Given the description of an element on the screen output the (x, y) to click on. 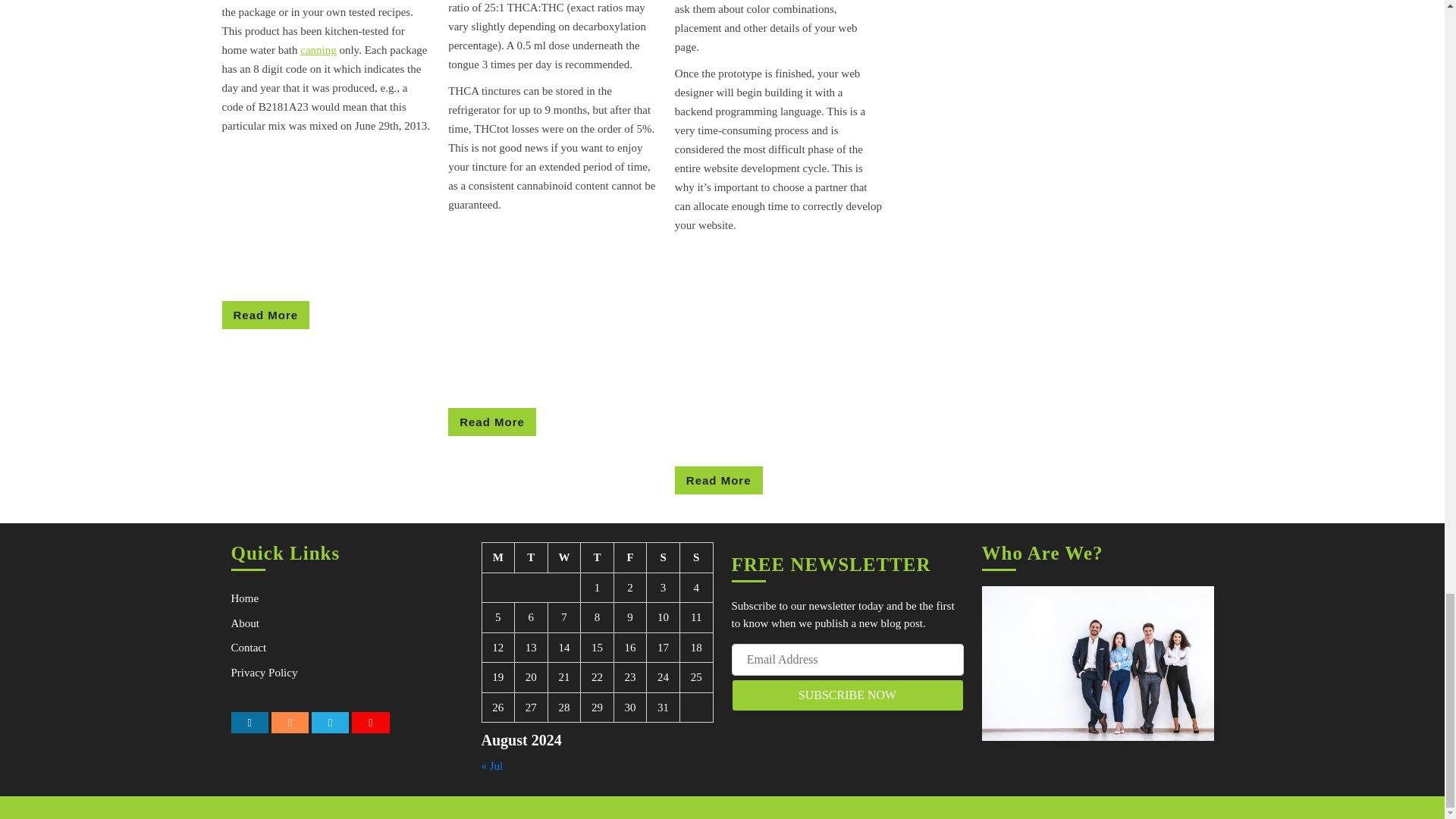
Wednesday (563, 557)
SUBSCRIBE NOW (846, 695)
Sunday (696, 557)
Monday (498, 557)
Tuesday (491, 421)
Friday (531, 557)
canning (629, 557)
Thursday (264, 315)
